Given the description of an element on the screen output the (x, y) to click on. 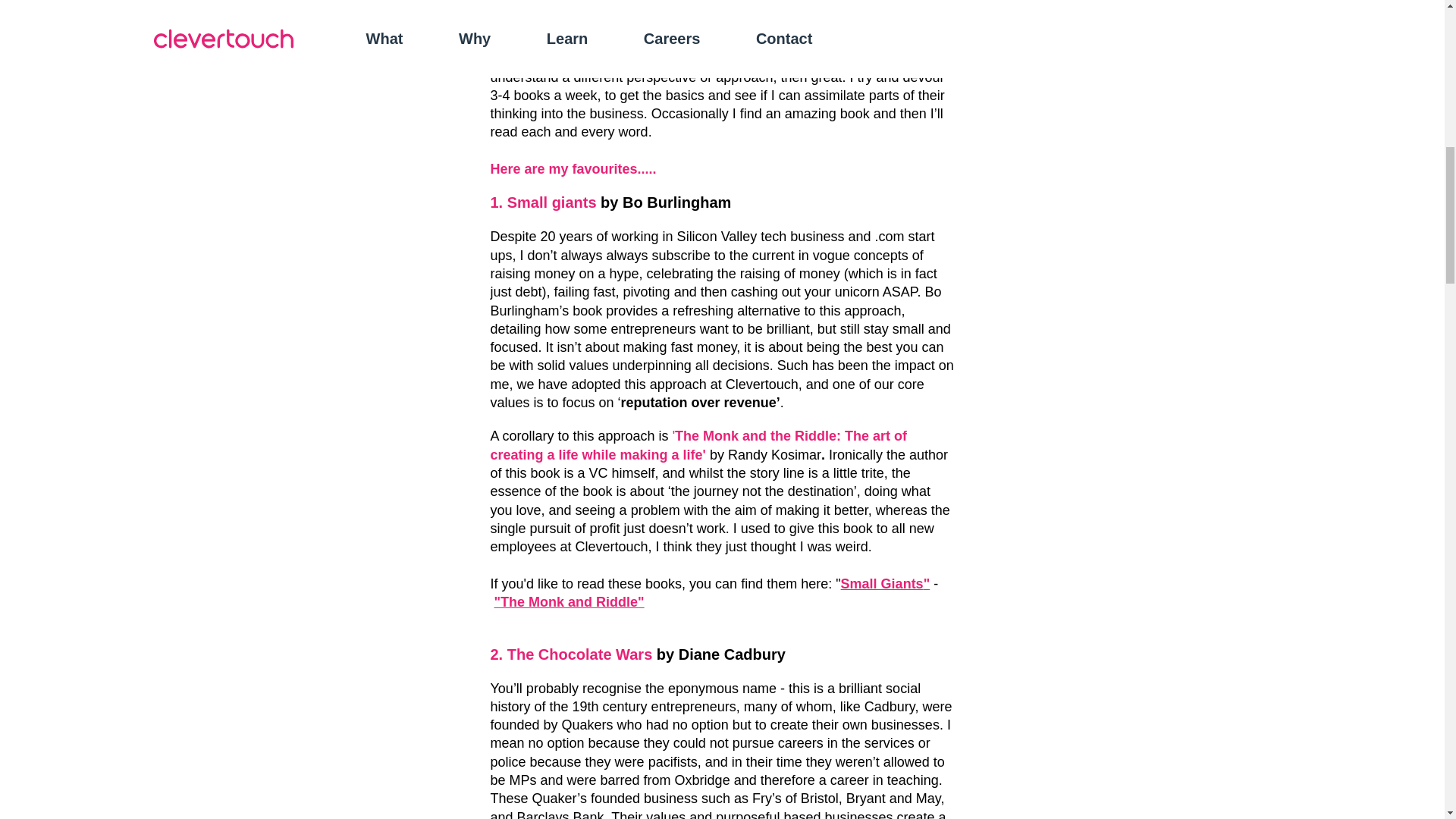
Small Giants (882, 583)
The Monk and Riddle (568, 601)
